Given the description of an element on the screen output the (x, y) to click on. 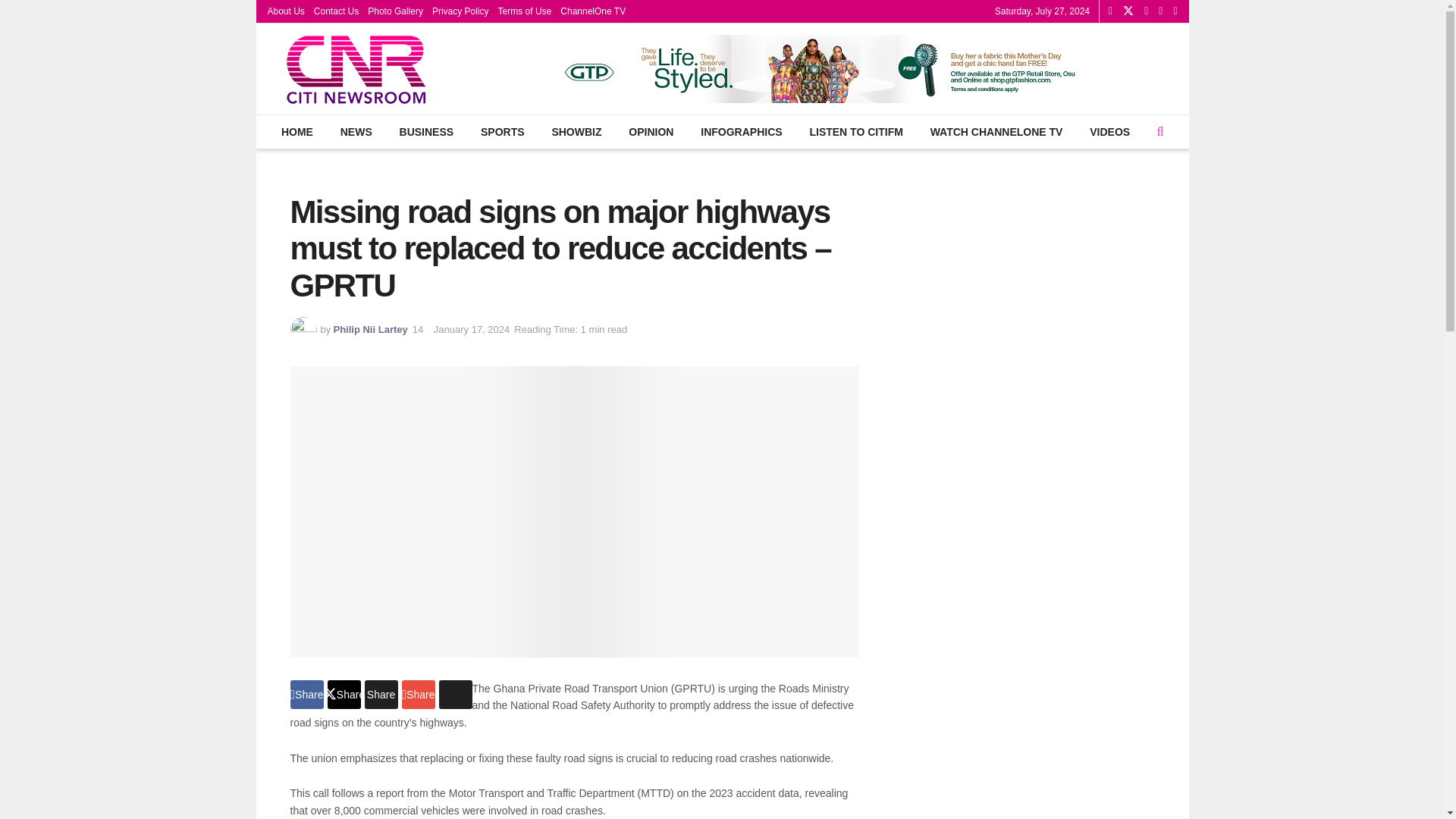
BUSINESS (425, 131)
Terms of Use (524, 11)
ChannelOne TV (593, 11)
Photo Gallery (395, 11)
SPORTS (502, 131)
VIDEOS (1109, 131)
OPINION (651, 131)
NEWS (355, 131)
Privacy Policy (460, 11)
About Us (285, 11)
Contact Us (336, 11)
WATCH CHANNELONE TV (996, 131)
SHOWBIZ (576, 131)
Posts by Philip Nii Lartey (370, 328)
INFOGRAPHICS (740, 131)
